Given the description of an element on the screen output the (x, y) to click on. 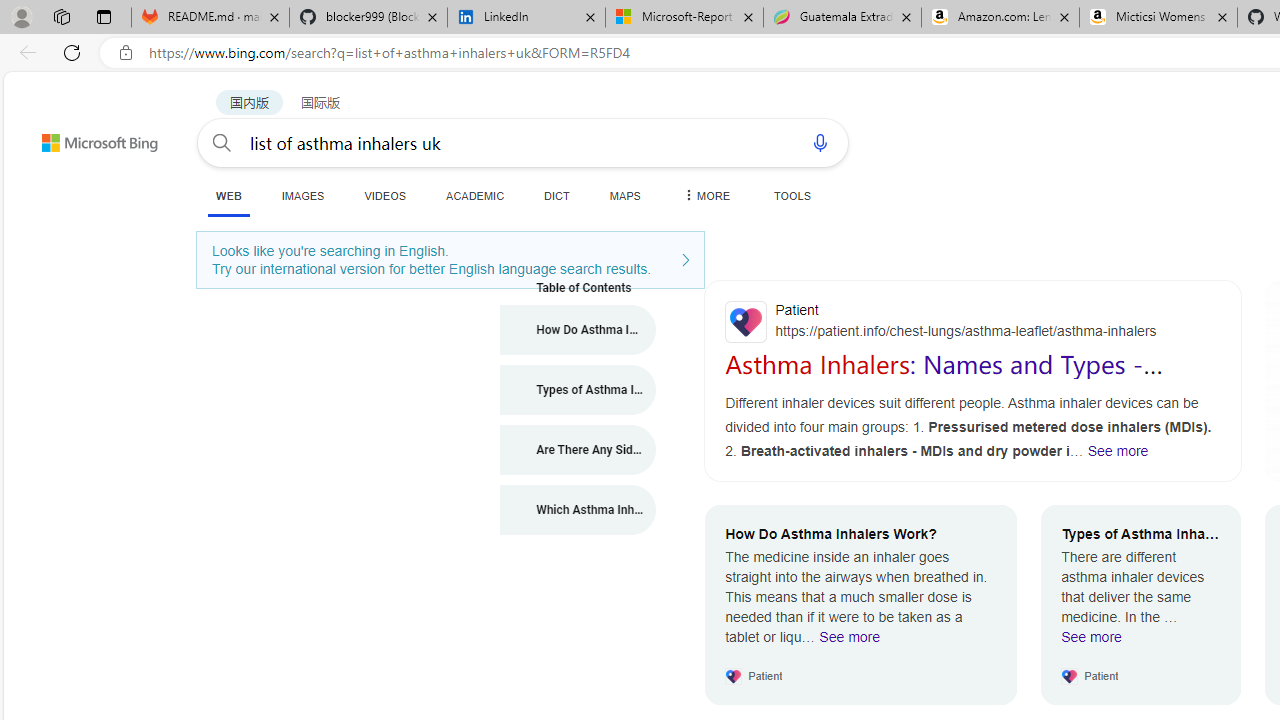
Dropdown Menu (705, 195)
ACADEMIC (475, 195)
